Given the description of an element on the screen output the (x, y) to click on. 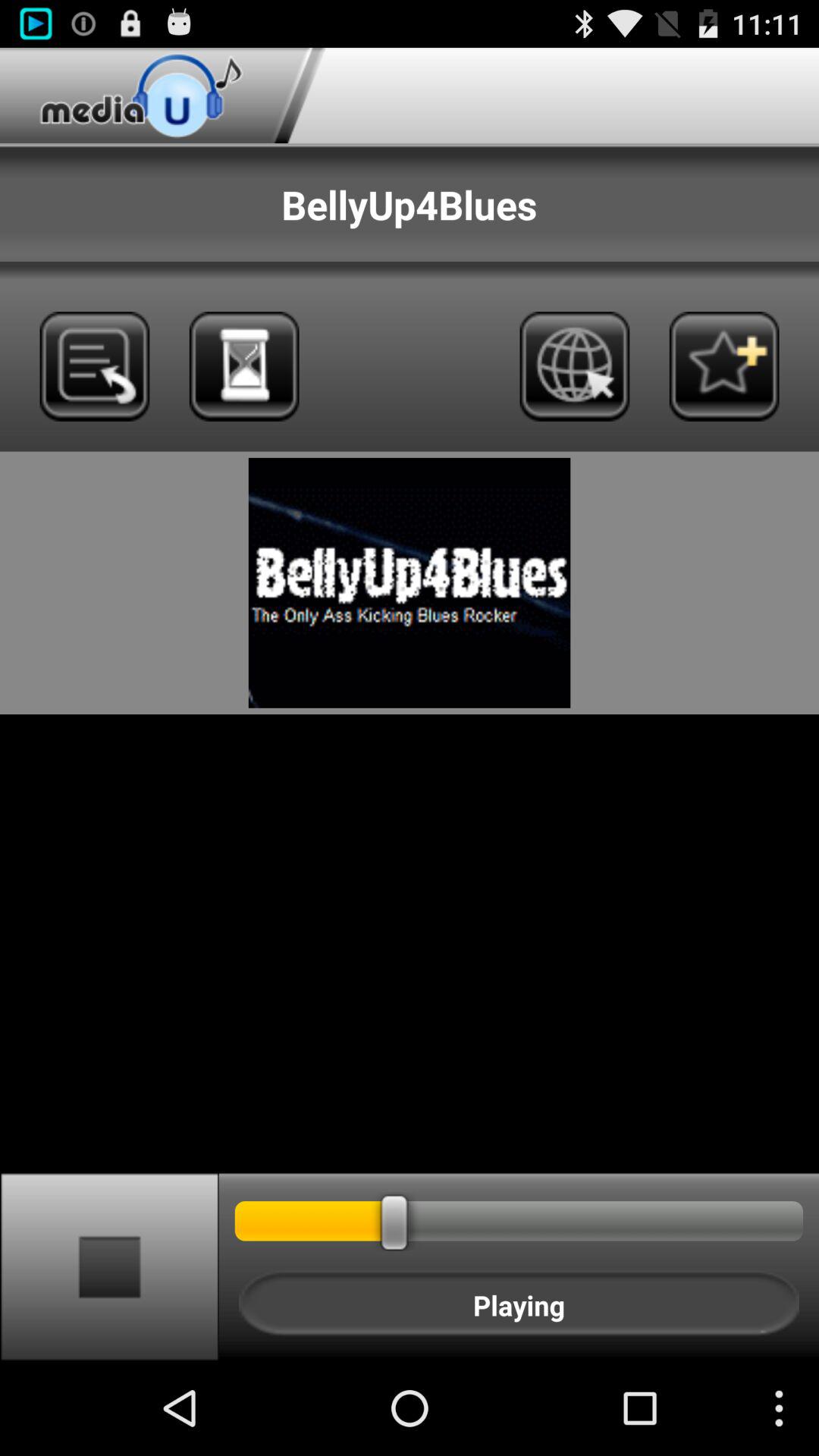
timer option (244, 366)
